Given the description of an element on the screen output the (x, y) to click on. 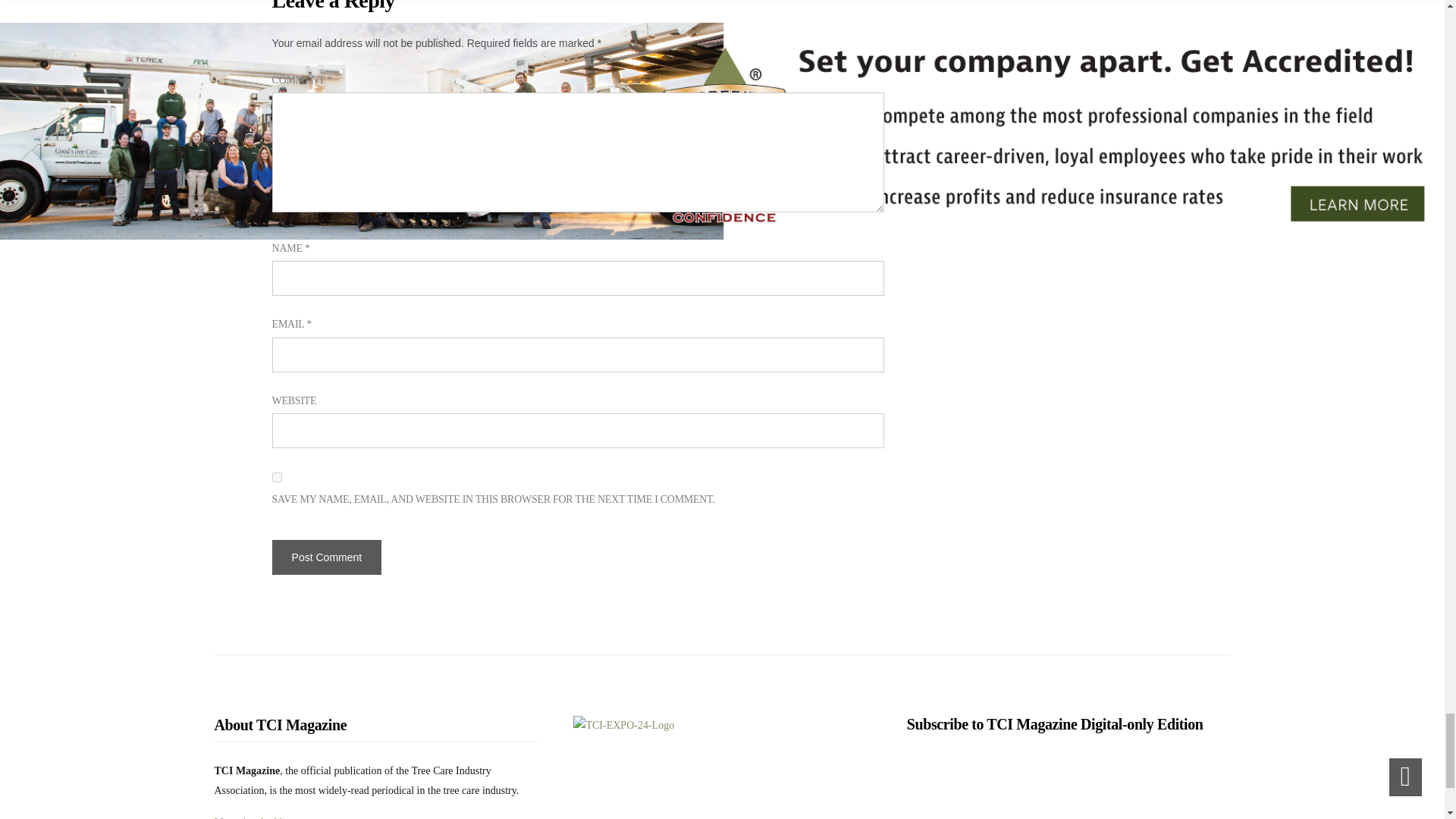
Post Comment (326, 556)
yes (277, 477)
